Given the description of an element on the screen output the (x, y) to click on. 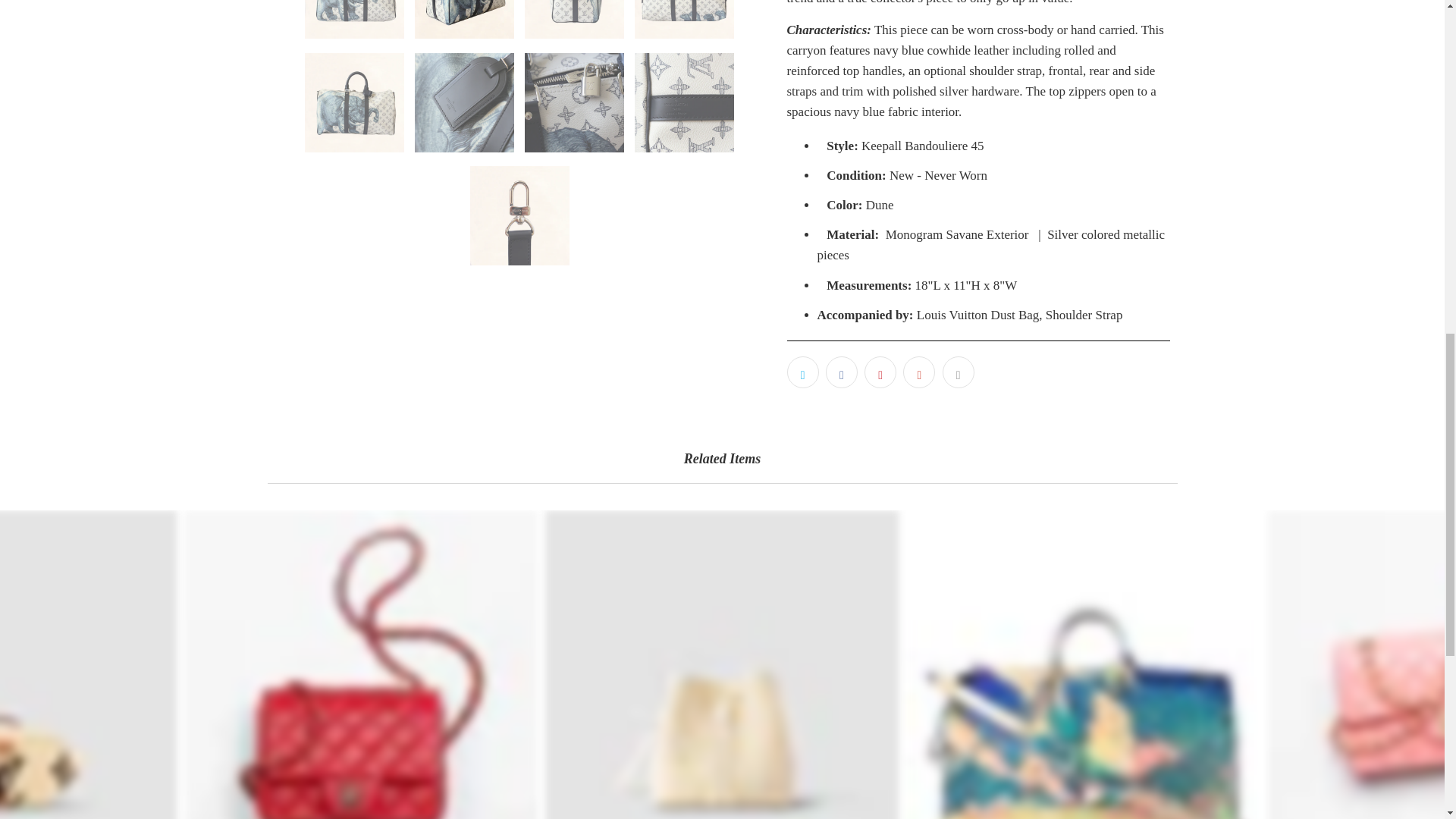
Email this to a friend (958, 372)
Share this on Pinterest (880, 372)
Share this on Twitter (802, 372)
Share this on Facebook (841, 372)
